Given the description of an element on the screen output the (x, y) to click on. 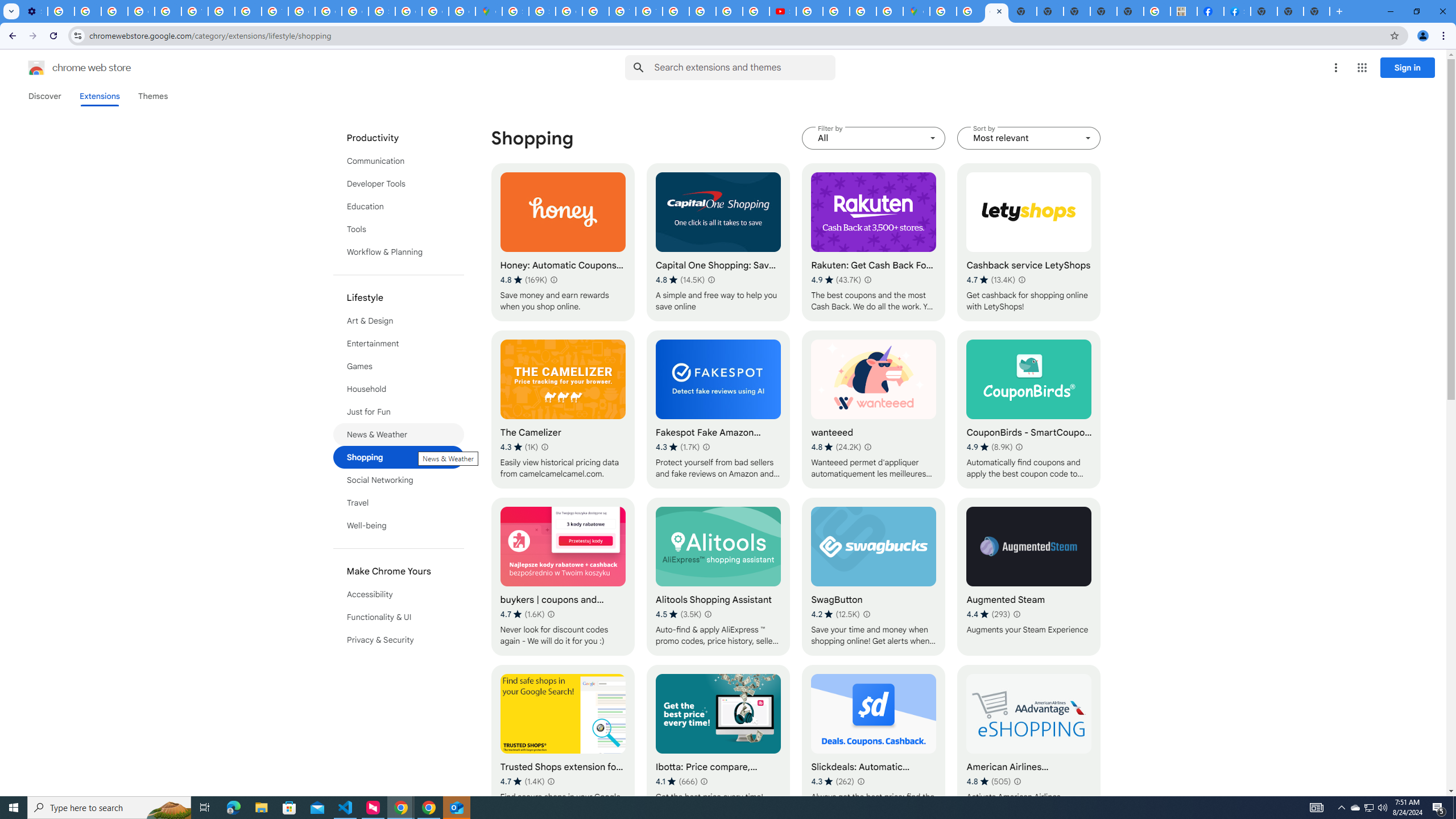
Communication (398, 160)
Average rating 4.2 out of 5 stars. 12.5K ratings. (835, 613)
How Chrome protects your passwords - Google Chrome Help (809, 11)
buykers | coupons and discount codes (562, 576)
Average rating 4.7 out of 5 stars. 13.4K ratings. (991, 279)
Discover (43, 95)
Chrome Web Store - Shopping (996, 11)
Social Networking (398, 479)
Sign in - Google Accounts (515, 11)
